Given the description of an element on the screen output the (x, y) to click on. 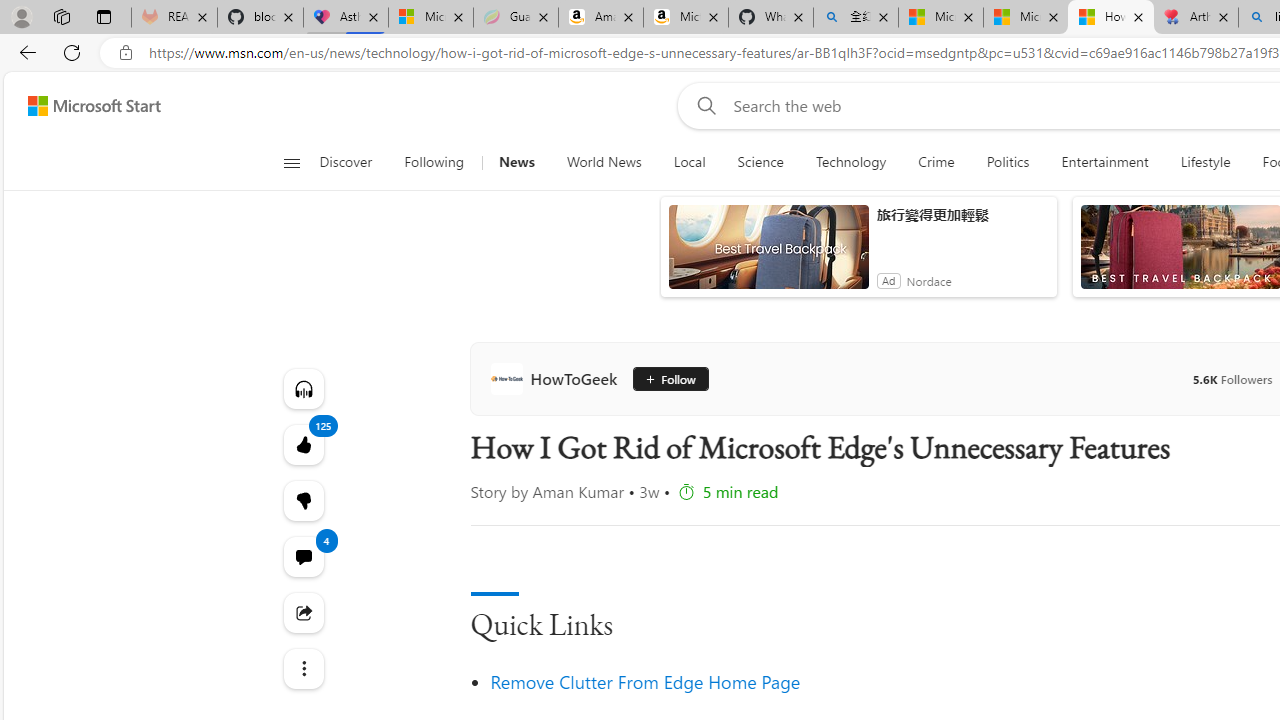
Science (760, 162)
Skip to content (86, 105)
Asthma Inhalers: Names and Types (345, 17)
Arthritis: Ask Health Professionals (1195, 17)
125 Like (302, 444)
Web search (702, 105)
Local (689, 162)
HowToGeek (557, 378)
View comments 4 Comment (302, 556)
